Given the description of an element on the screen output the (x, y) to click on. 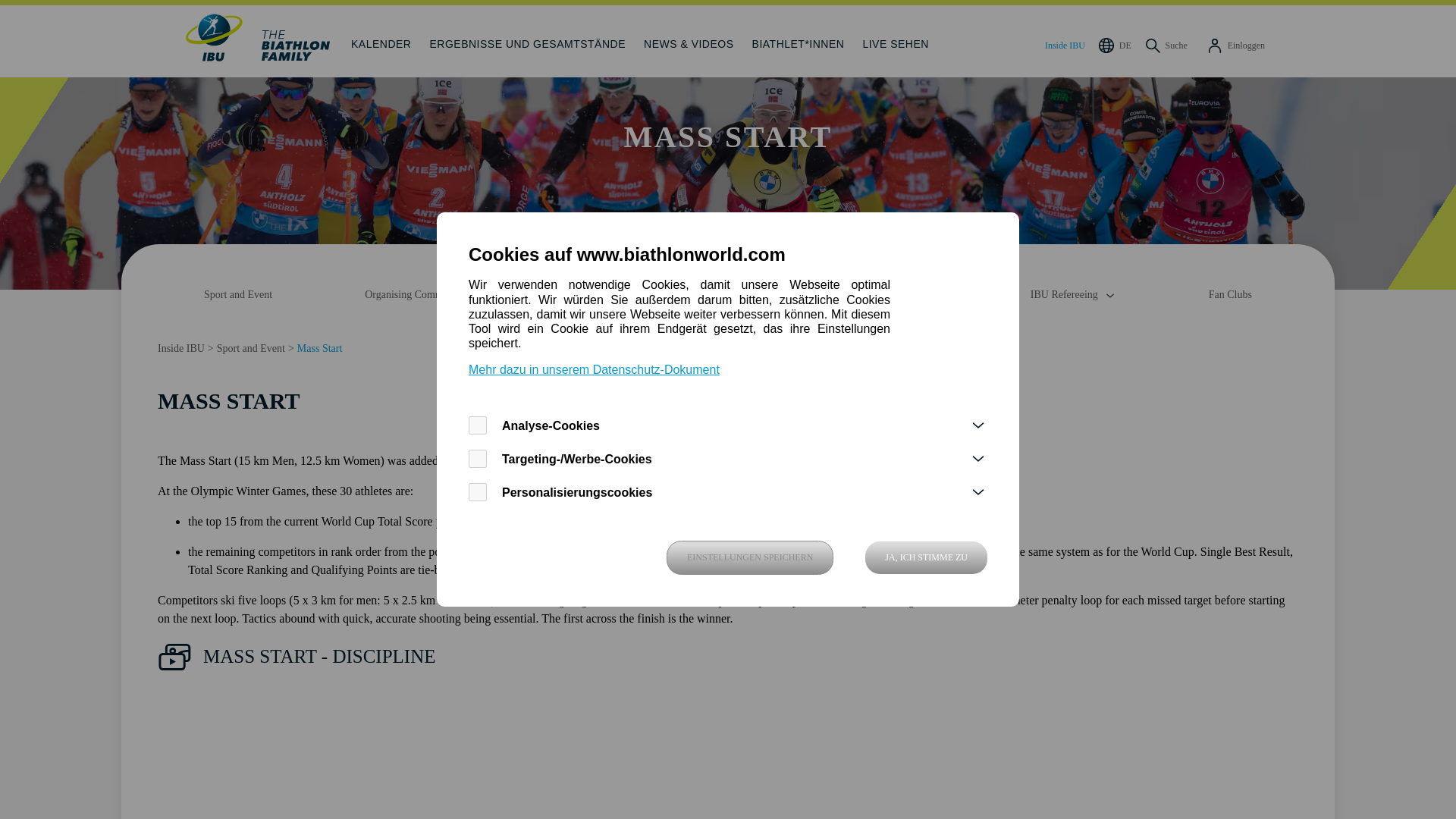
Sport and Event (237, 296)
false (477, 458)
LIVE SEHEN (895, 40)
Suche (1165, 40)
Einloggen (1235, 40)
DE (1113, 40)
Organising Committees (424, 295)
false (477, 425)
KALENDER (381, 40)
Inside IBU (1062, 40)
false (477, 492)
